Given the description of an element on the screen output the (x, y) to click on. 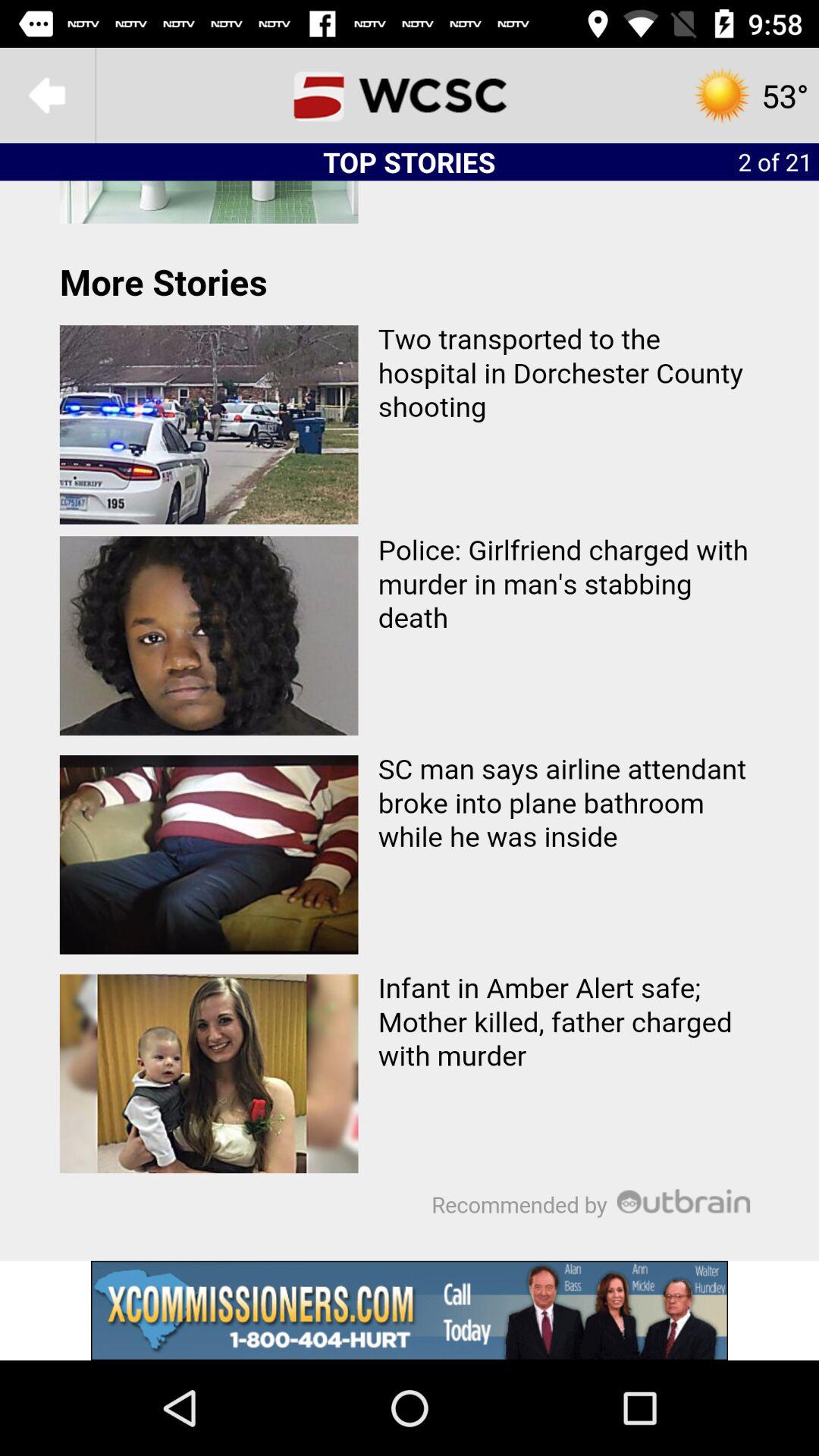
launch the icon at the center (409, 720)
